Given the description of an element on the screen output the (x, y) to click on. 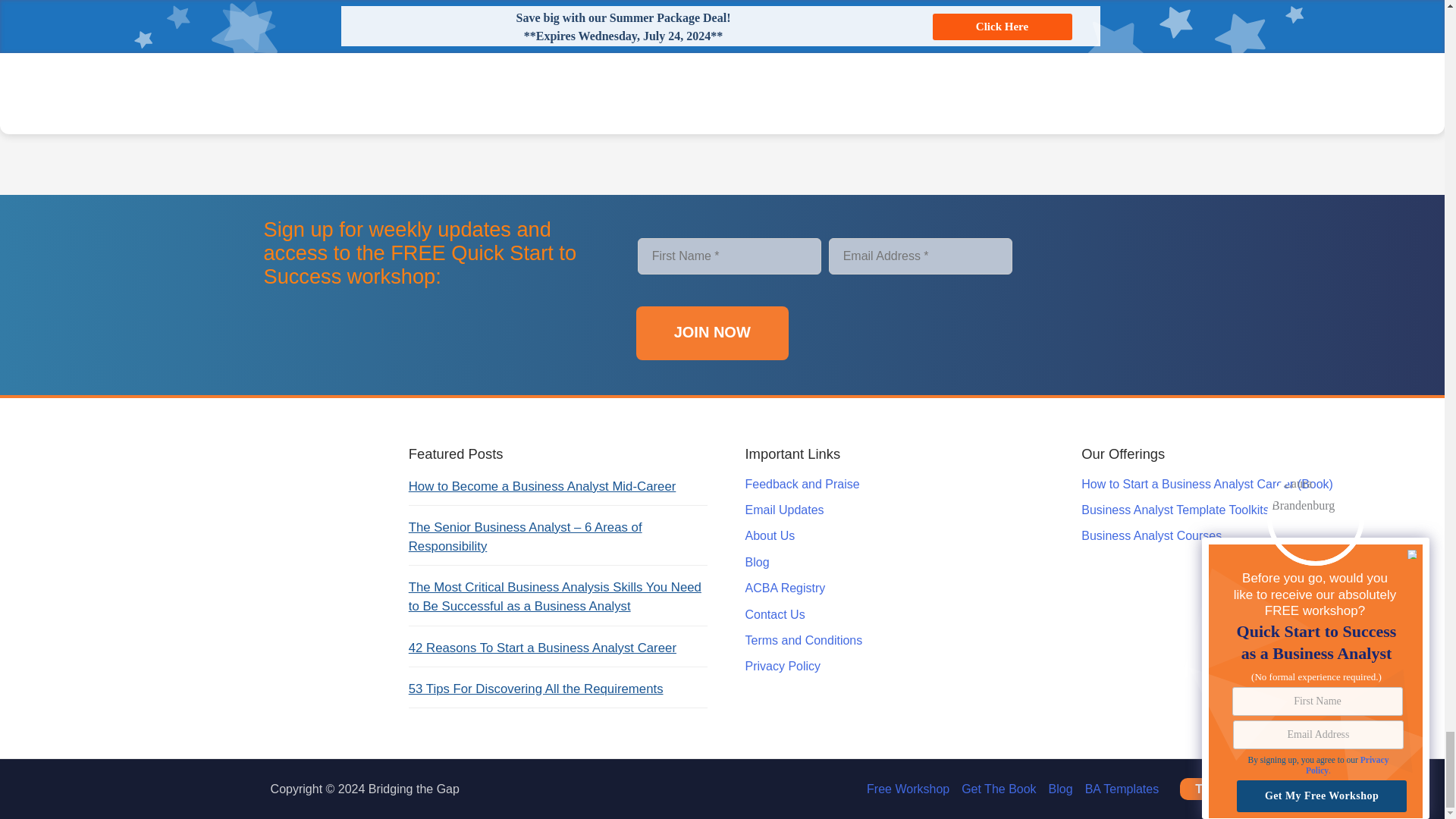
JOIN NOW (712, 333)
